Given the description of an element on the screen output the (x, y) to click on. 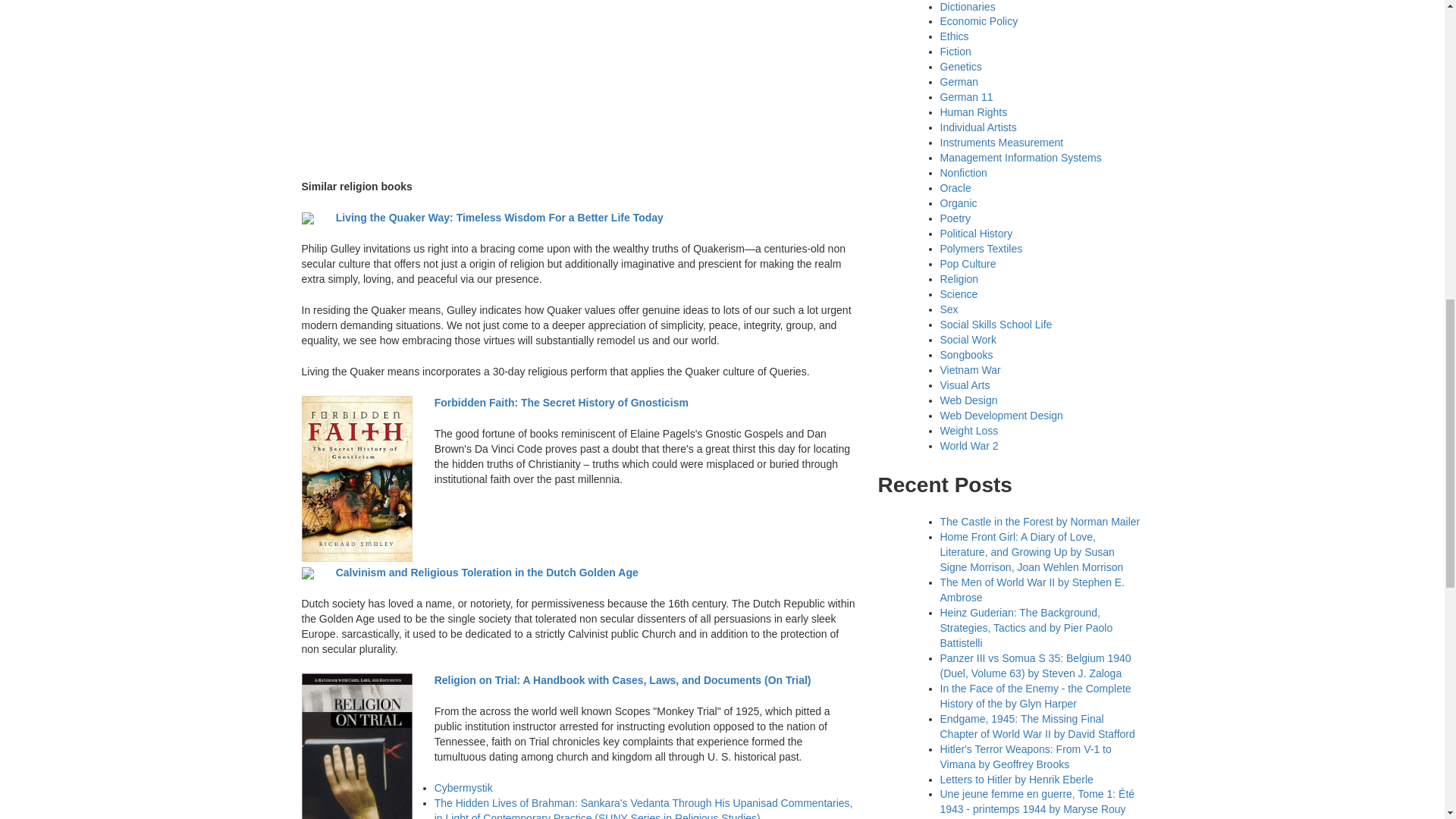
Cybermystik (463, 787)
Forbidden Faith: The Secret History of Gnosticism (560, 402)
Calvinism and Religious Toleration in the Dutch Golden Age (487, 572)
Dictionaries (967, 6)
